Given the description of an element on the screen output the (x, y) to click on. 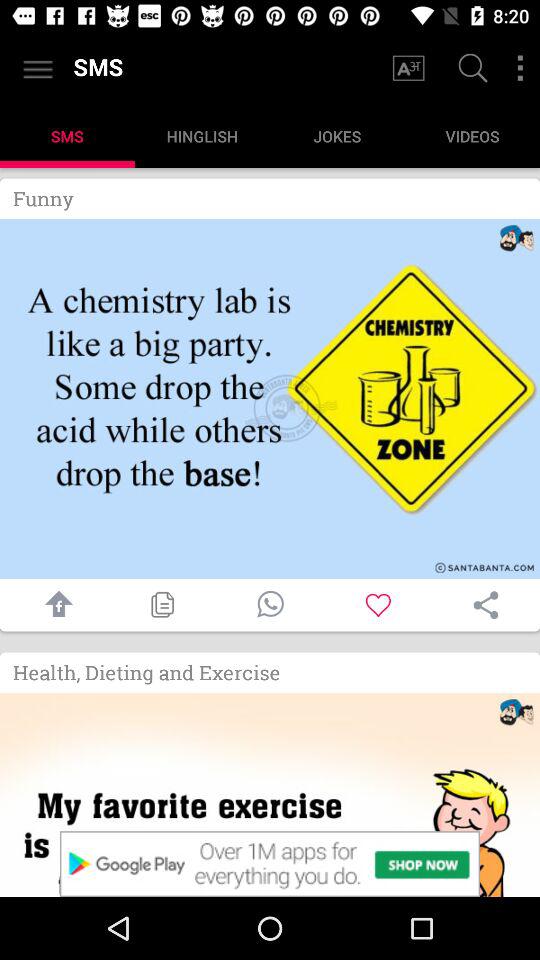
share sms (486, 605)
